Given the description of an element on the screen output the (x, y) to click on. 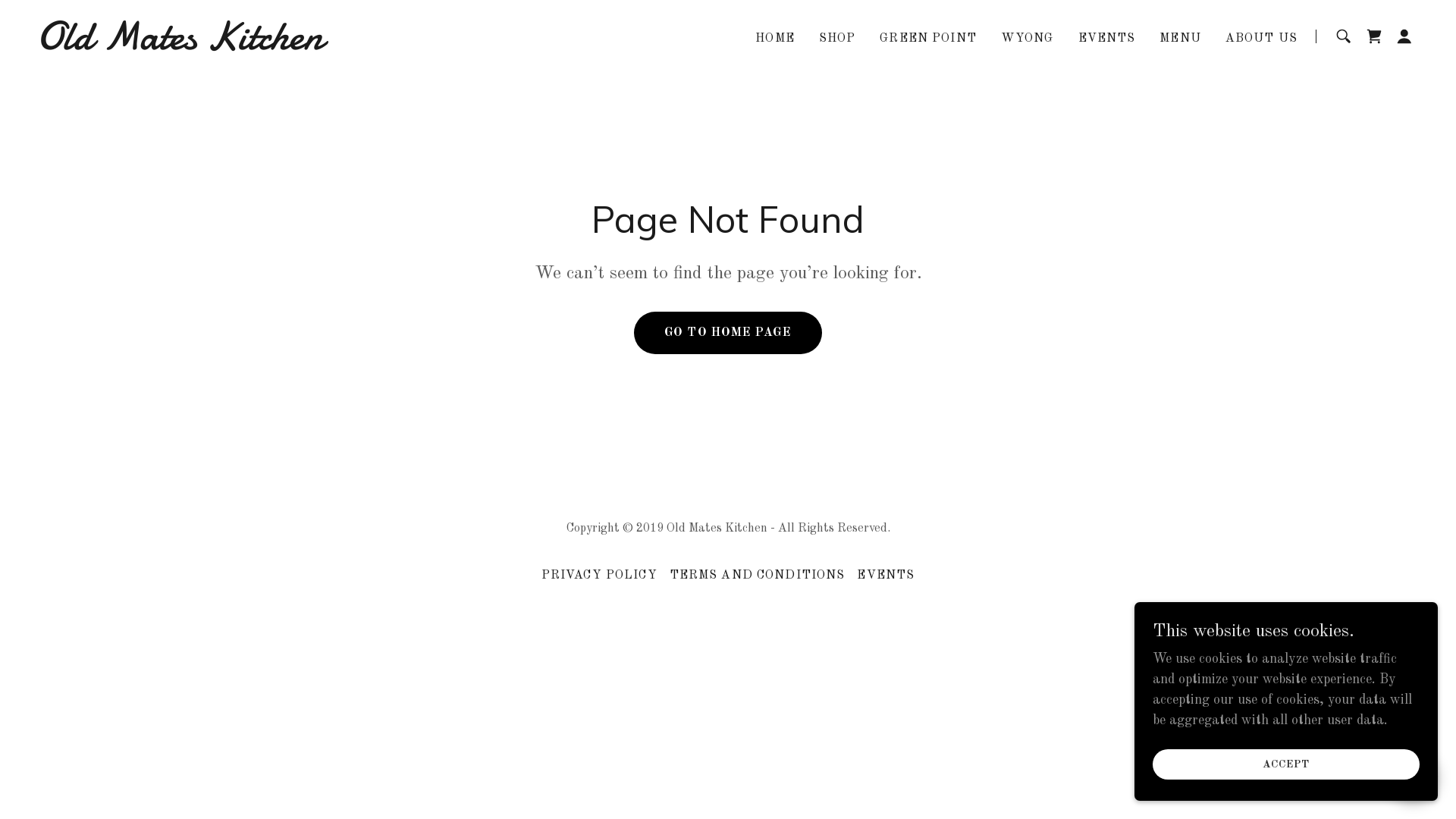
GREEN POINT Element type: text (928, 38)
SHOP Element type: text (837, 38)
PRIVACY POLICY Element type: text (599, 575)
GO TO HOME PAGE Element type: text (727, 332)
EVENTS Element type: text (885, 575)
MENU Element type: text (1179, 38)
HOME Element type: text (774, 38)
TERMS AND CONDITIONS Element type: text (757, 575)
WYONG Element type: text (1027, 38)
ABOUT US Element type: text (1261, 38)
ACCEPT Element type: text (1285, 764)
EVENTS Element type: text (1106, 38)
Old Mates Kitchen Element type: text (278, 45)
